Given the description of an element on the screen output the (x, y) to click on. 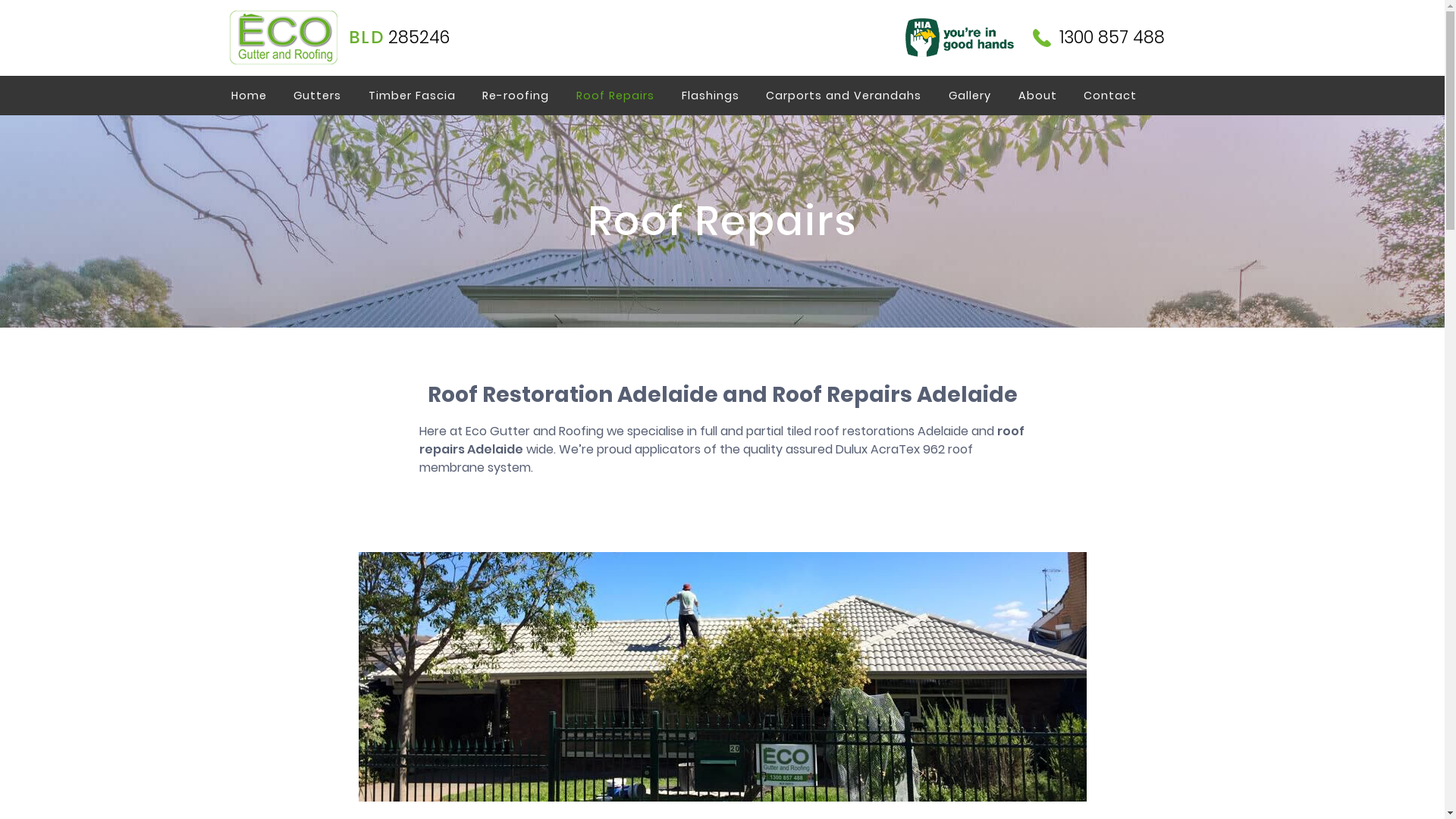
About Element type: text (1037, 95)
Roof Repairs Element type: text (615, 95)
1300 857 488 Element type: text (1098, 37)
Gutters Element type: text (317, 95)
Flashings Element type: text (710, 95)
Gallery Element type: text (969, 95)
Carports and Verandahs Element type: text (844, 95)
Re-roofing Element type: text (515, 95)
ECO Gutter And Roofing Adelaide | Guttering Adelaide Element type: hover (282, 37)
Home Element type: text (253, 95)
Contact Element type: text (1110, 95)
Timber Fascia Element type: text (411, 95)
